Given the description of an element on the screen output the (x, y) to click on. 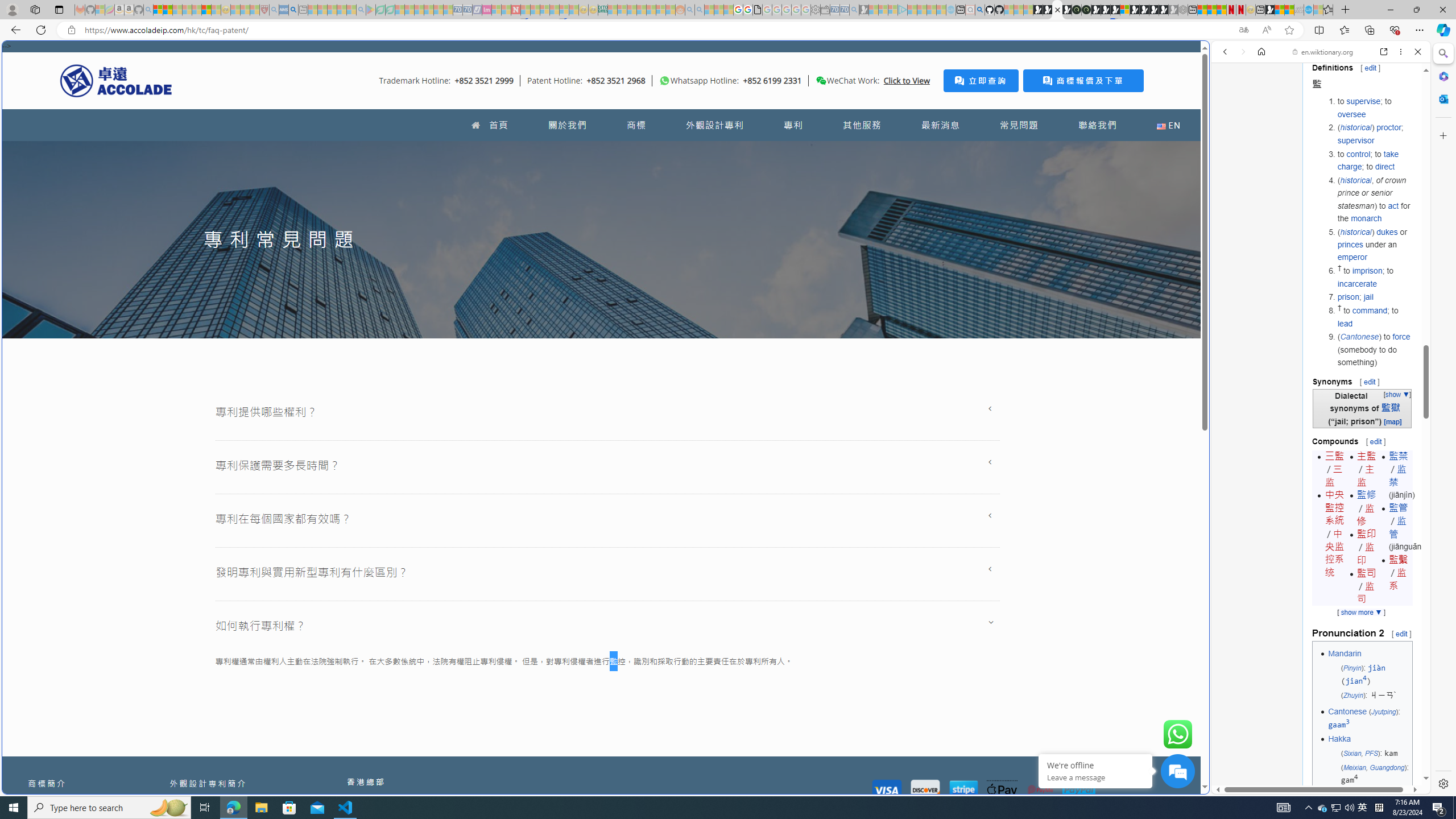
Wiktionary (1315, 380)
Accolade IP HK Logo (116, 80)
gaam3 (1338, 724)
dukes (1386, 231)
prison (1347, 297)
